Given the description of an element on the screen output the (x, y) to click on. 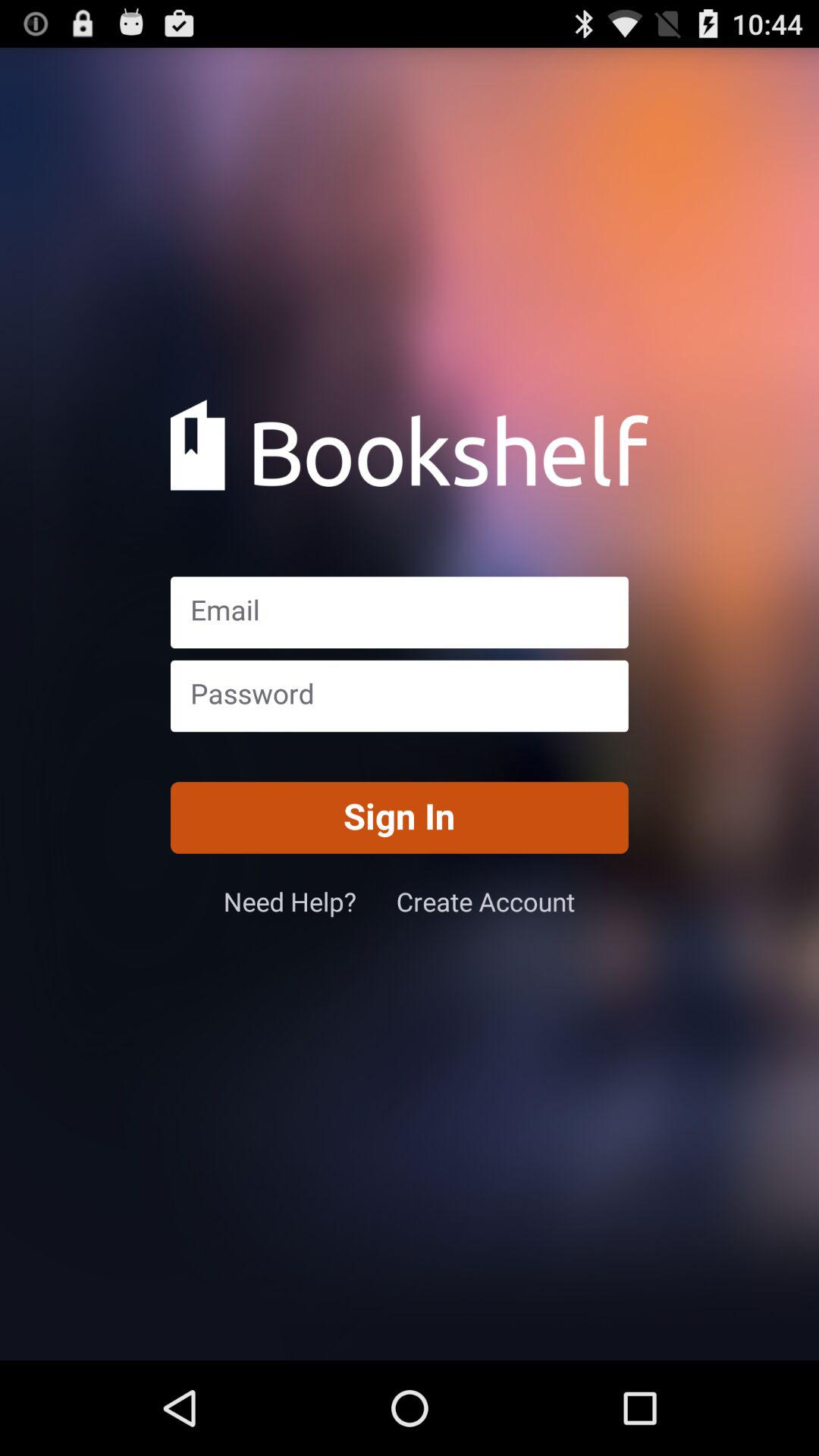
turn on item below sign in button (309, 901)
